Given the description of an element on the screen output the (x, y) to click on. 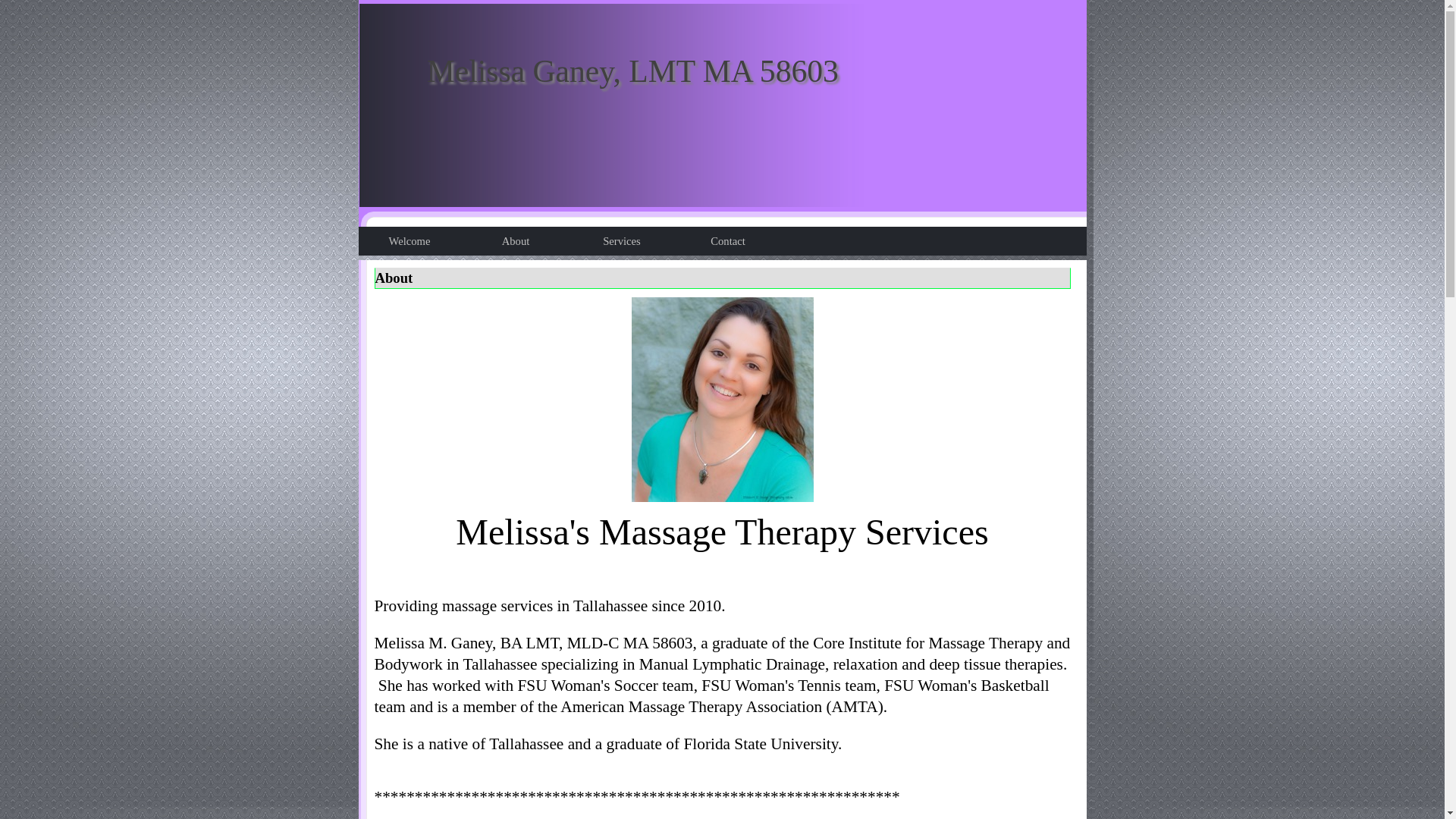
Welcome (411, 240)
Contact (730, 240)
About (517, 240)
massage head shot (721, 399)
Services (623, 240)
